Given the description of an element on the screen output the (x, y) to click on. 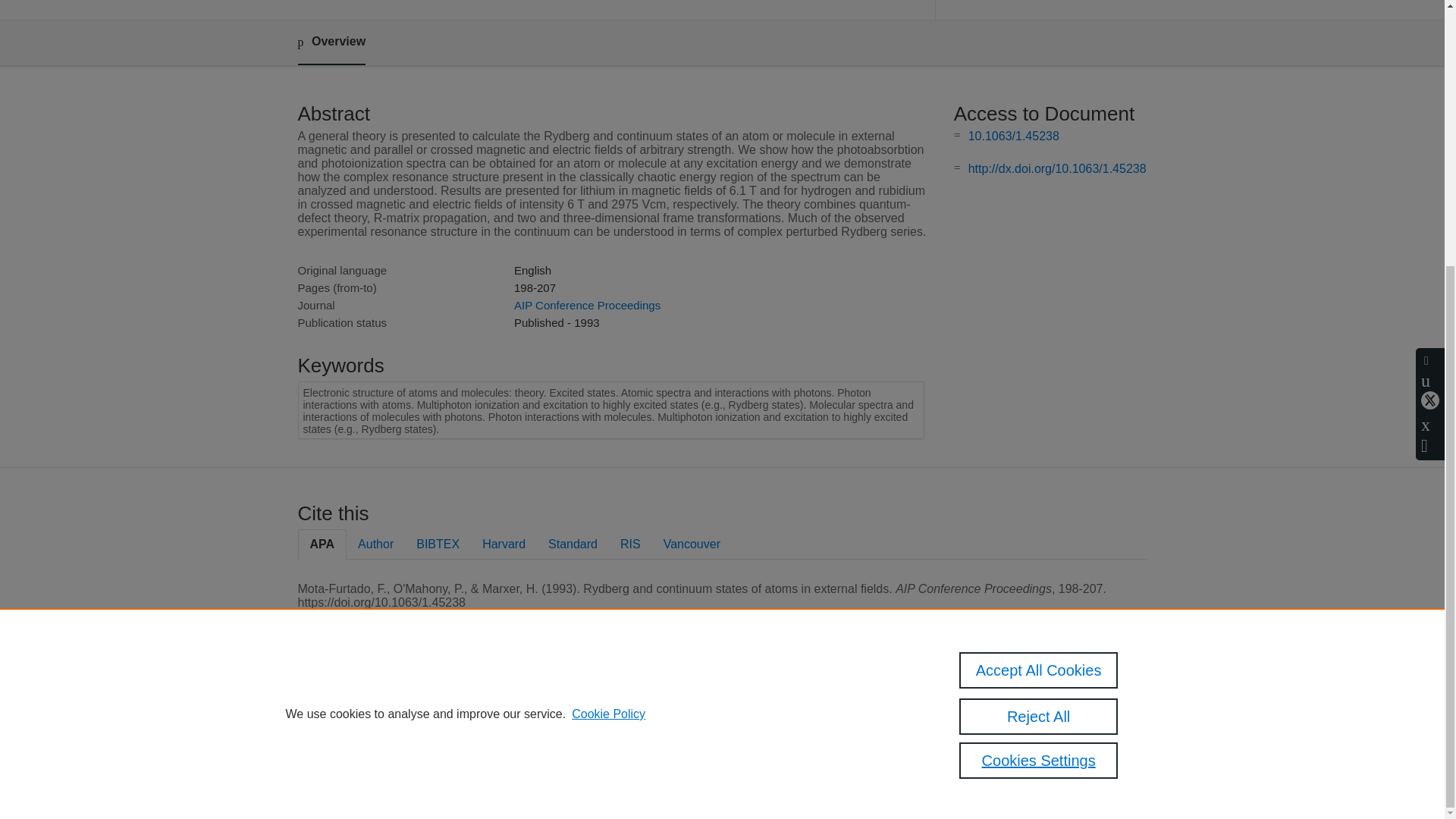
Pure (362, 708)
Elsevier B.V. (506, 728)
About web accessibility (1042, 740)
Scopus (394, 708)
Reject All (1038, 330)
Royal Holloway Research Portal data protection policy (1061, 713)
use of cookies (796, 760)
Cookie Policy (608, 327)
Report vulnerability (1033, 760)
AIP Conference Proceedings (587, 305)
